Given the description of an element on the screen output the (x, y) to click on. 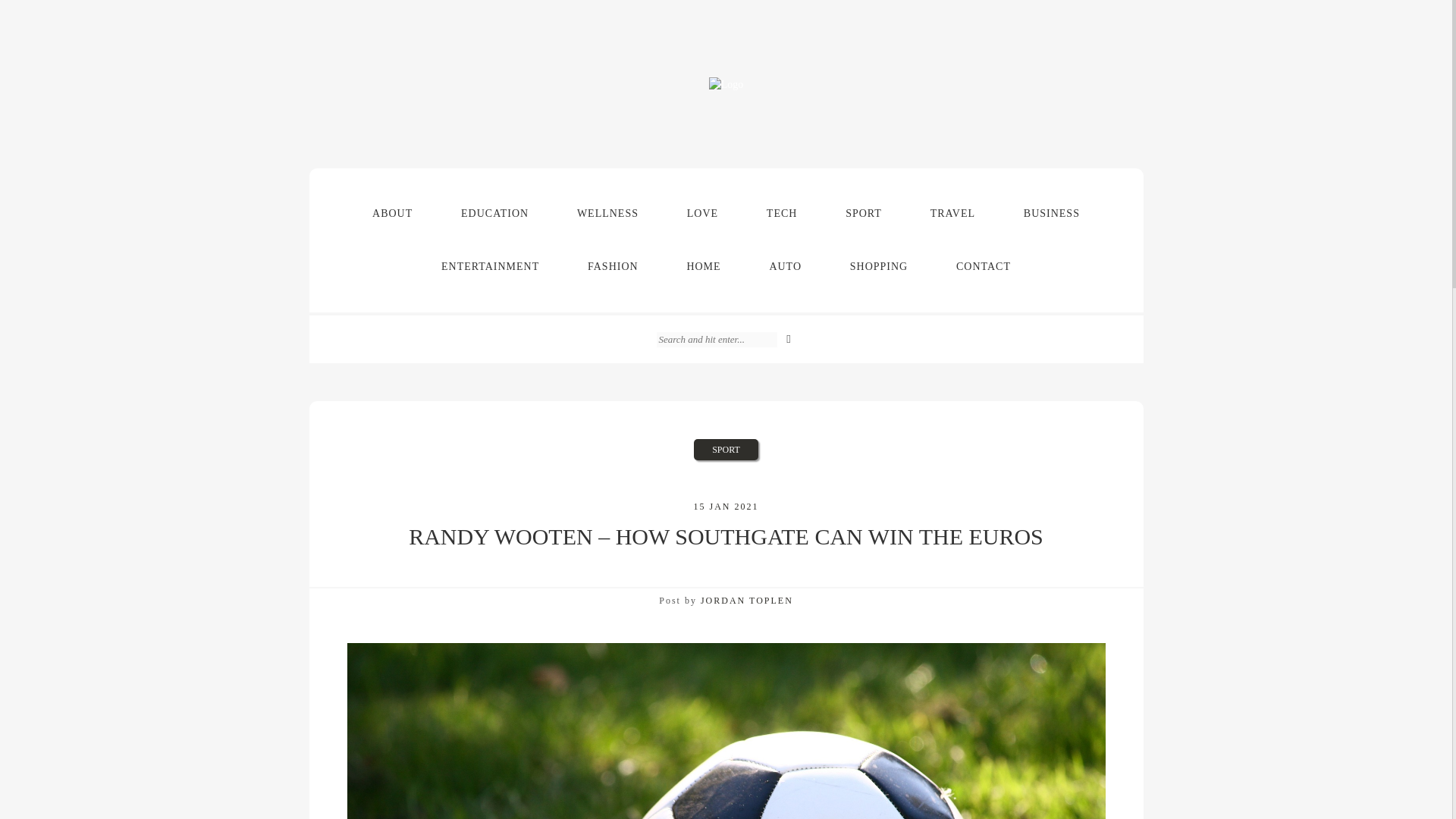
TRAVEL (952, 213)
ENTERTAINMENT (490, 266)
EDUCATION (494, 213)
ABOUT (392, 213)
TECH (782, 213)
JORDAN TOPLEN (746, 600)
WELLNESS (607, 213)
LOVE (702, 213)
View all posts in Sport (726, 449)
CONTACT (983, 266)
